Given the description of an element on the screen output the (x, y) to click on. 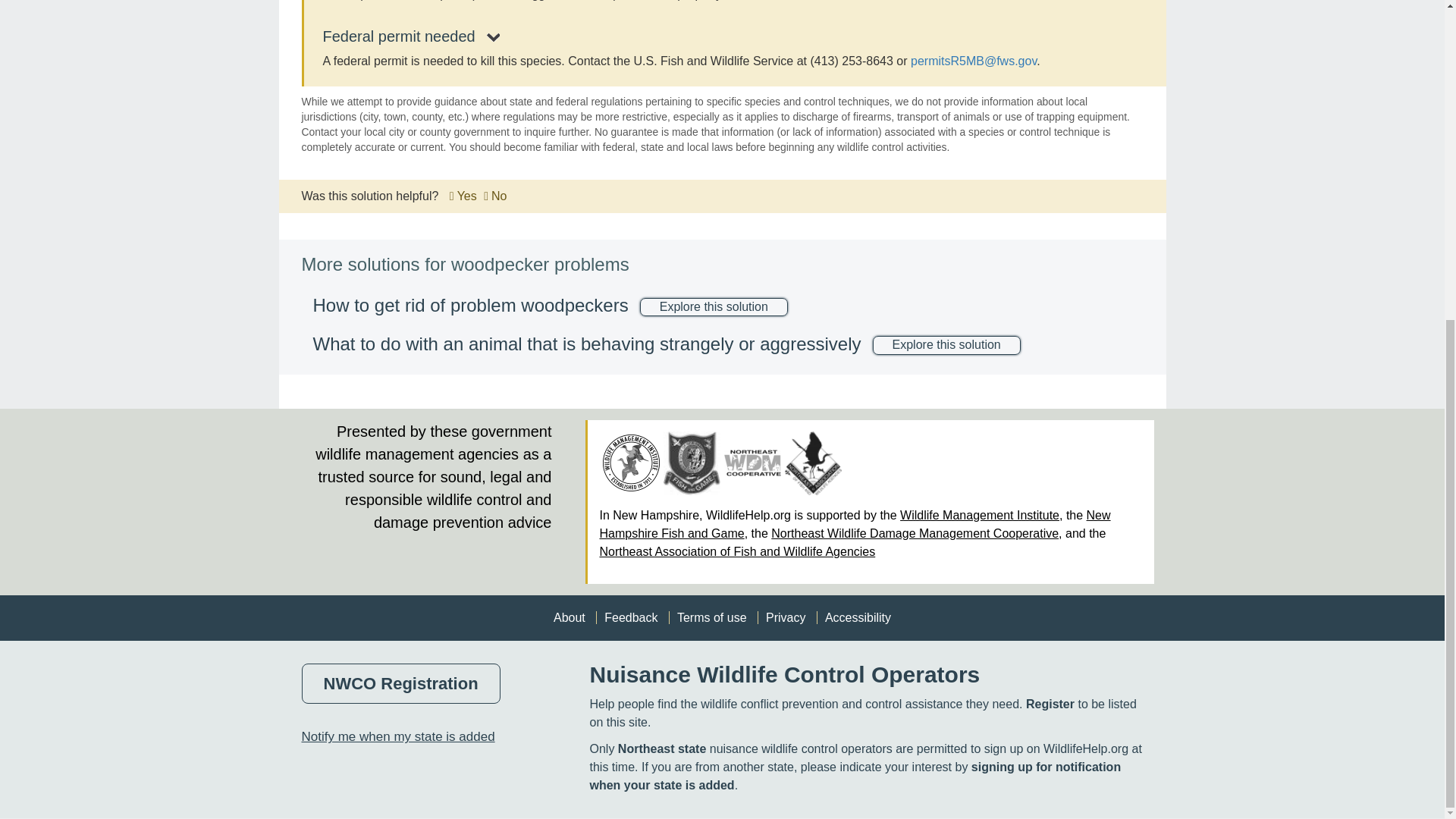
Northeast Wildlife Damage Management Cooperative (751, 462)
Northeast Association of Fish and Wildlife Agencies (812, 463)
New Hampshire Fish and Game Department (691, 463)
